Given the description of an element on the screen output the (x, y) to click on. 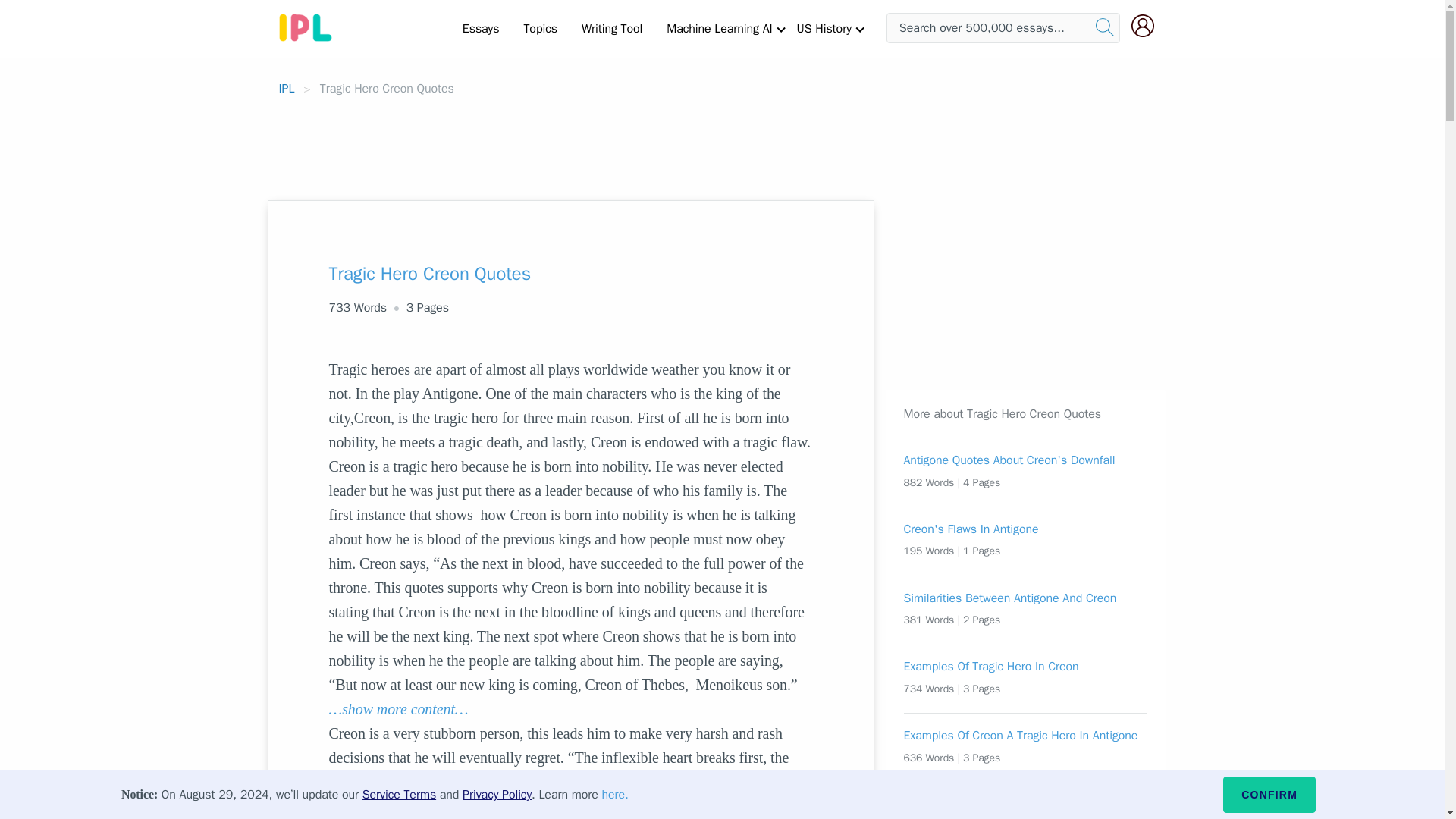
Machine Learning AI (718, 28)
IPL (287, 88)
Writing Tool (611, 28)
Essays (480, 28)
Topics (540, 28)
US History (823, 28)
